Given the description of an element on the screen output the (x, y) to click on. 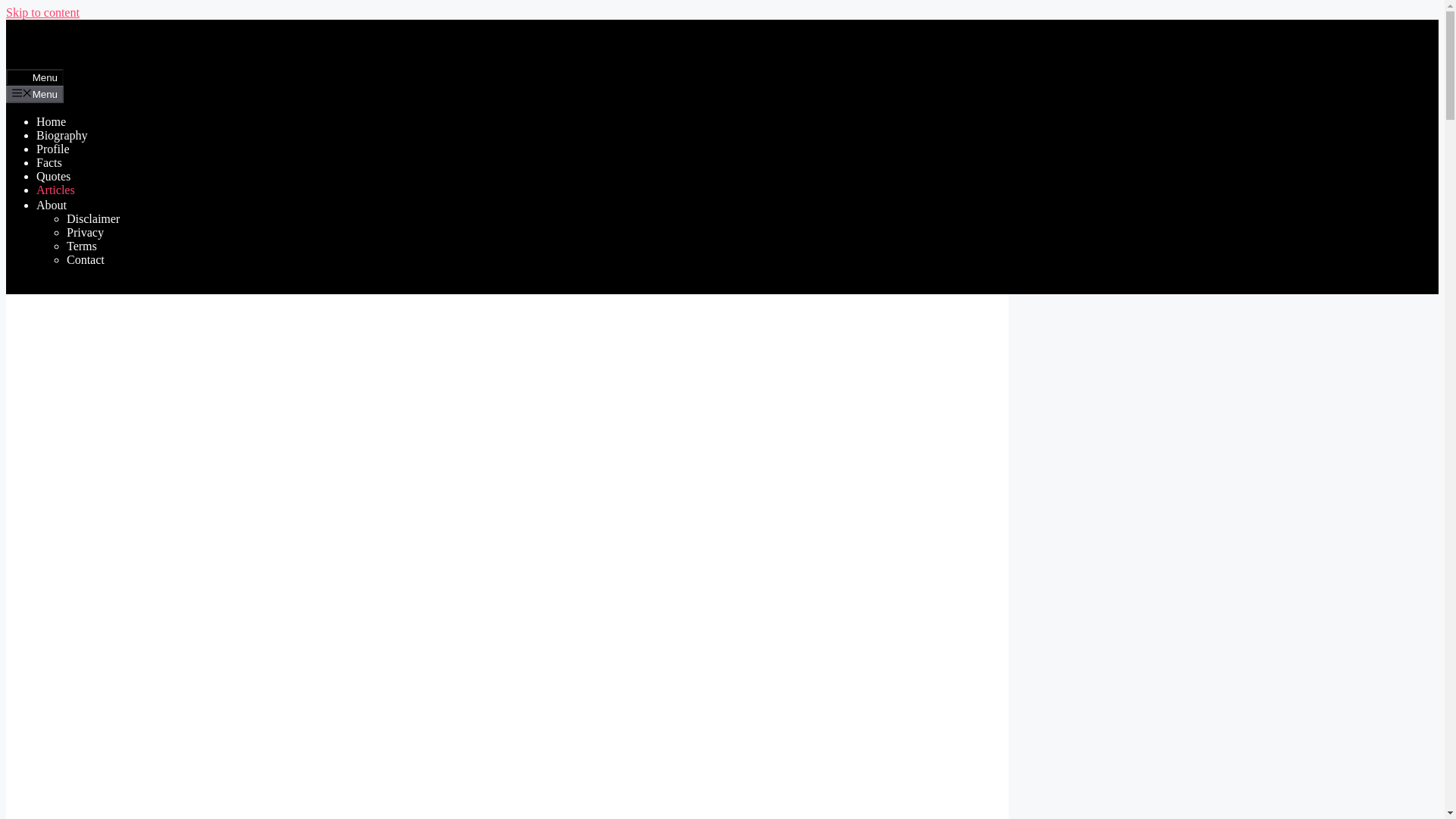
Menu (34, 93)
Home (50, 121)
Contact (85, 259)
Biography (61, 134)
Profile (52, 148)
Privacy (84, 232)
Skip to content (42, 11)
Facts (49, 162)
Articles (55, 189)
About (57, 205)
Disclaimer (92, 218)
Skip to content (42, 11)
Menu (34, 76)
Quotes (52, 175)
